Given the description of an element on the screen output the (x, y) to click on. 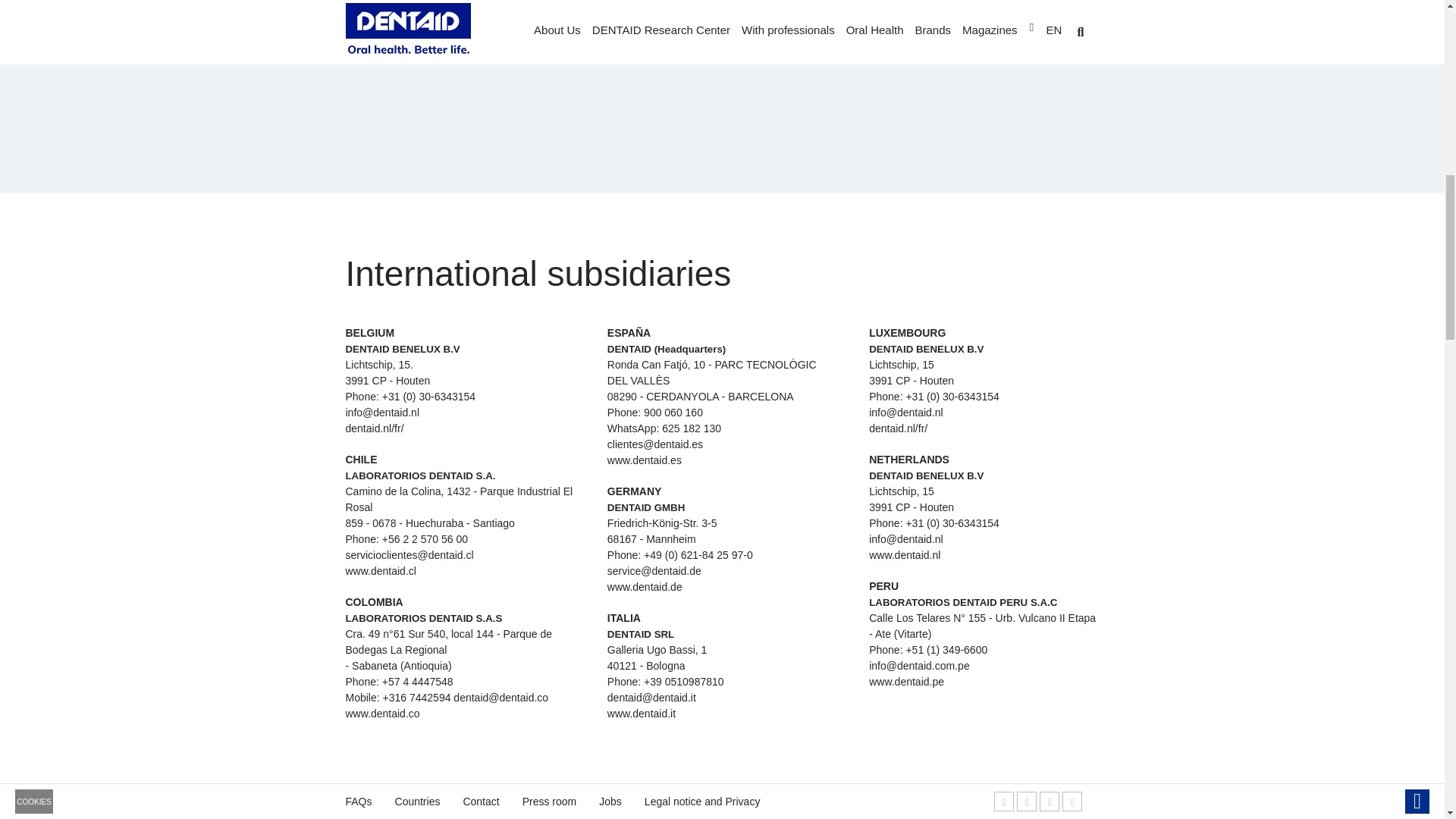
www.dentaid.es (383, 28)
www.dentaid.cl (381, 571)
www.dentaid.co (383, 713)
